Given the description of an element on the screen output the (x, y) to click on. 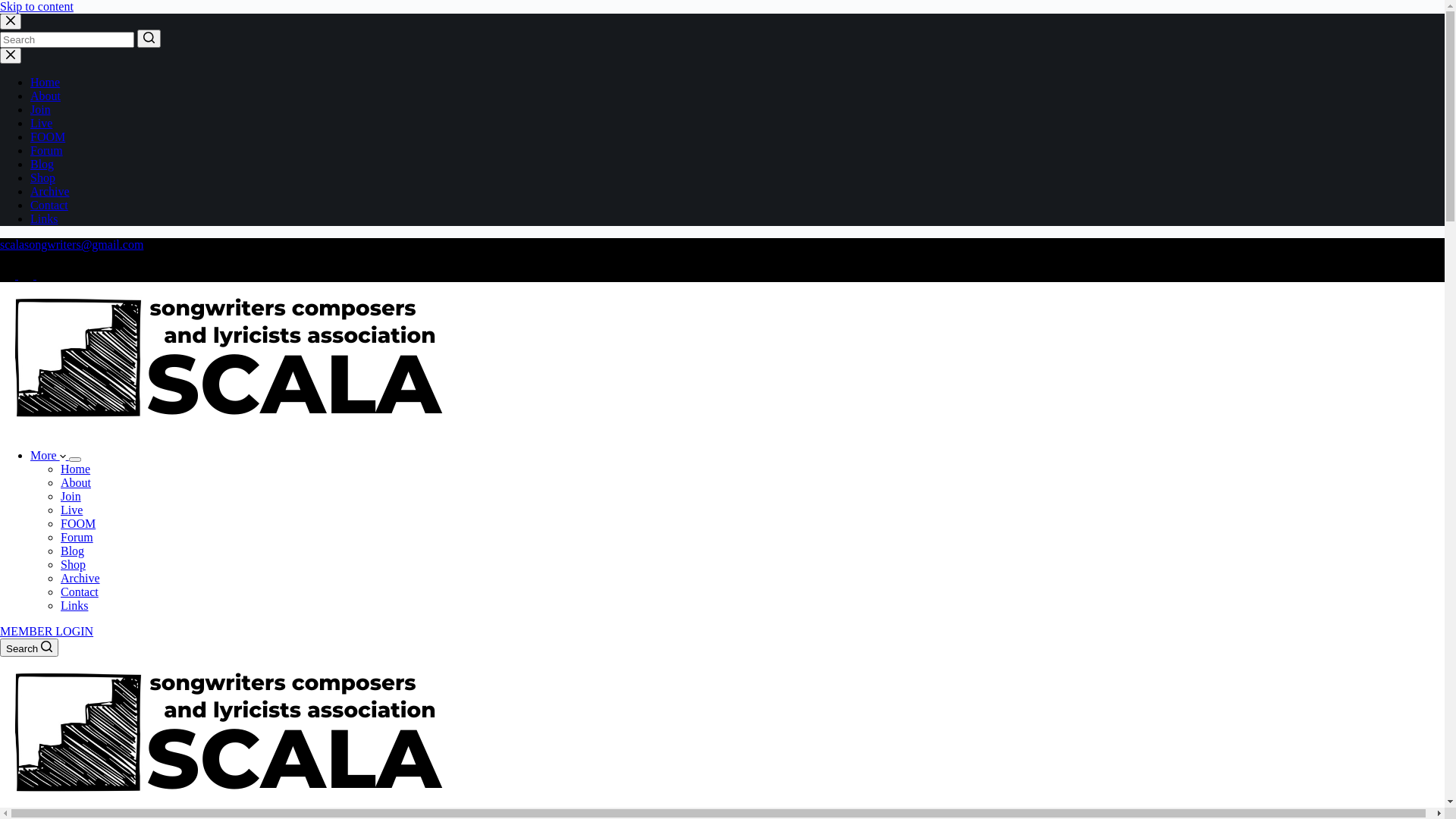
About Element type: text (45, 95)
Archive Element type: text (49, 191)
Skip to content Element type: text (36, 6)
scalasongwriters@gmail.com Element type: text (71, 244)
Links Element type: text (43, 218)
FOOM Element type: text (77, 523)
Join Element type: text (70, 495)
Blog Element type: text (72, 550)
Forum Element type: text (46, 150)
More Element type: text (49, 454)
Shop Element type: text (72, 564)
Archive Element type: text (80, 577)
Live Element type: text (41, 122)
Home Element type: text (44, 81)
Contact Element type: text (49, 204)
Shop Element type: text (42, 177)
Search Element type: text (29, 647)
Search for... Element type: hover (67, 39)
MEMBER LOGIN Element type: text (46, 630)
Forum Element type: text (76, 536)
FOOM Element type: text (47, 136)
Links Element type: text (73, 605)
Contact Element type: text (79, 591)
Blog Element type: text (41, 163)
About Element type: text (75, 482)
Join Element type: text (40, 109)
Live Element type: text (71, 509)
Home Element type: text (75, 468)
